Given the description of an element on the screen output the (x, y) to click on. 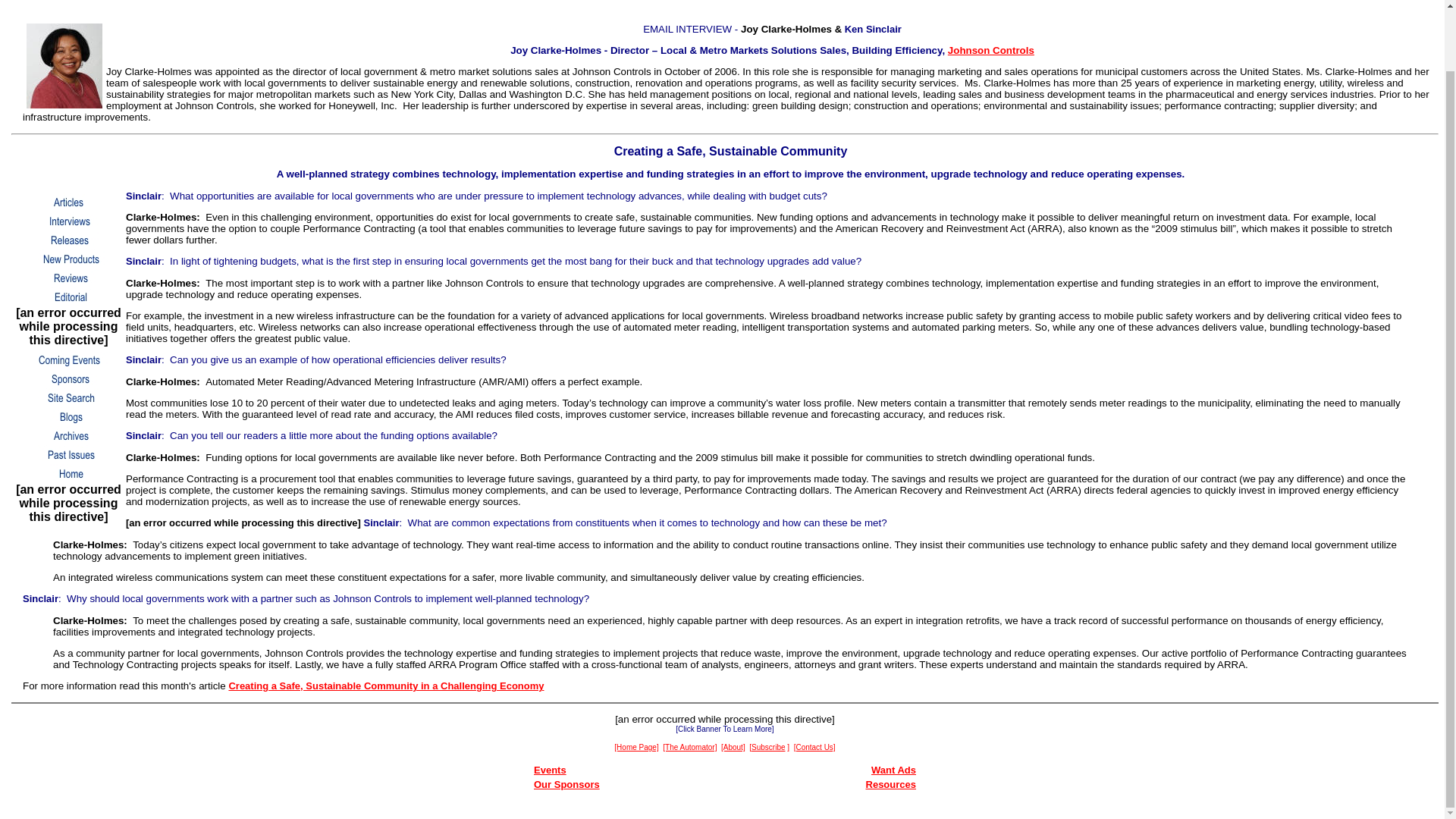
Want Ads (892, 769)
Events (550, 769)
Our Sponsors (566, 783)
Johnson Controls (990, 50)
Resources (890, 783)
Subscribe (767, 746)
